Given the description of an element on the screen output the (x, y) to click on. 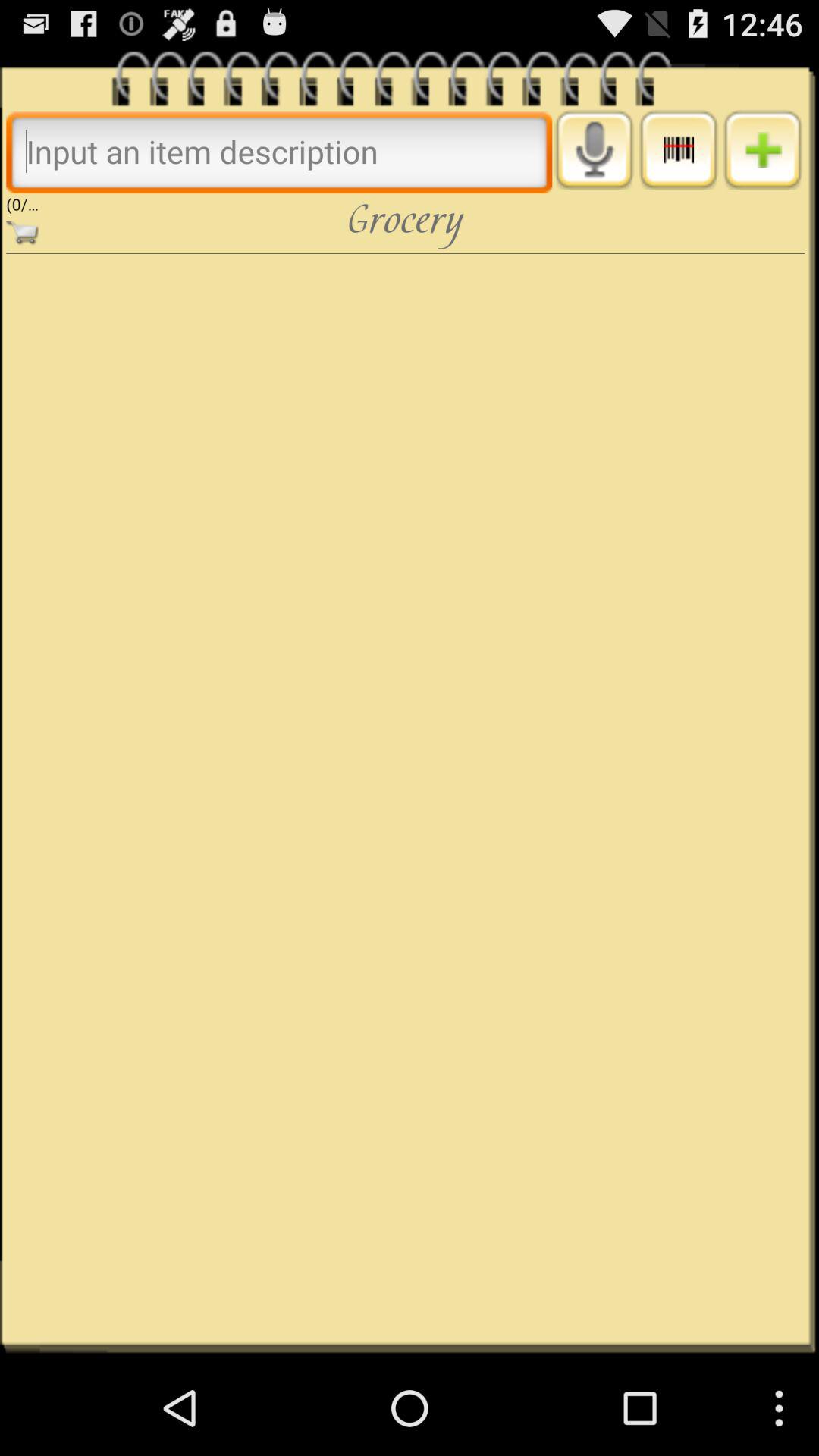
use microphone (594, 149)
